Given the description of an element on the screen output the (x, y) to click on. 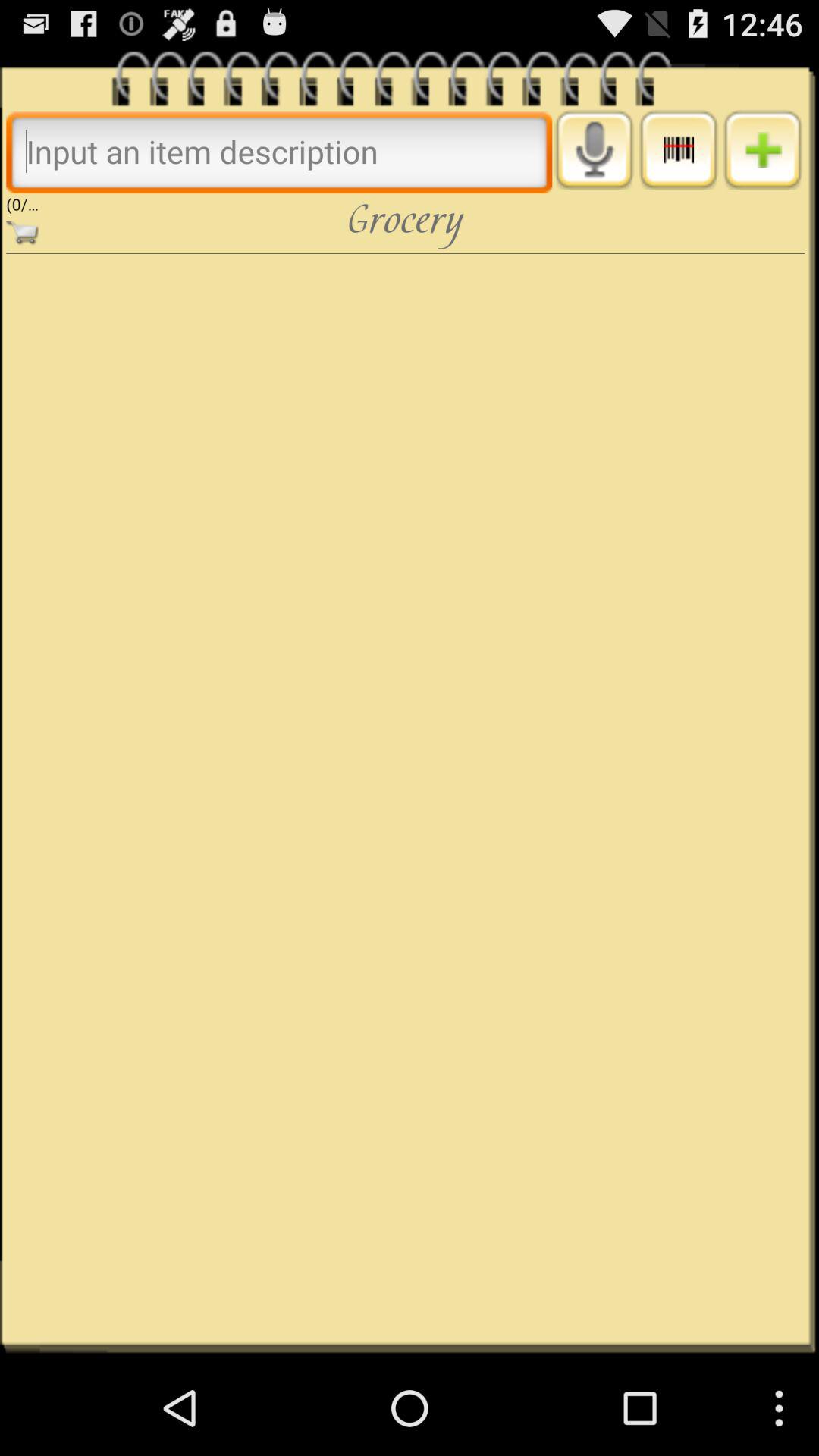
use microphone (594, 149)
